Given the description of an element on the screen output the (x, y) to click on. 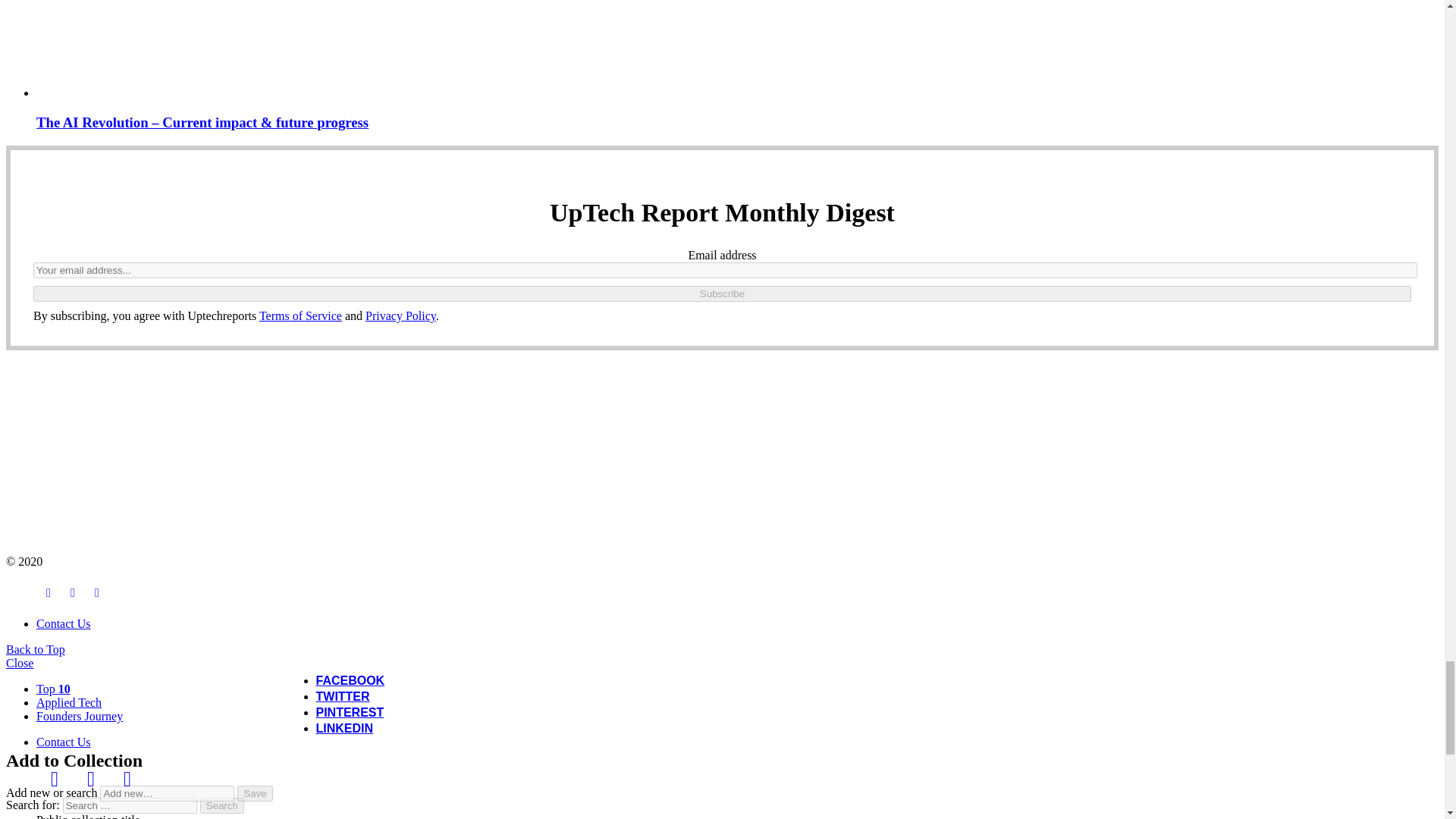
Subscribe (721, 293)
Save (254, 793)
